Given the description of an element on the screen output the (x, y) to click on. 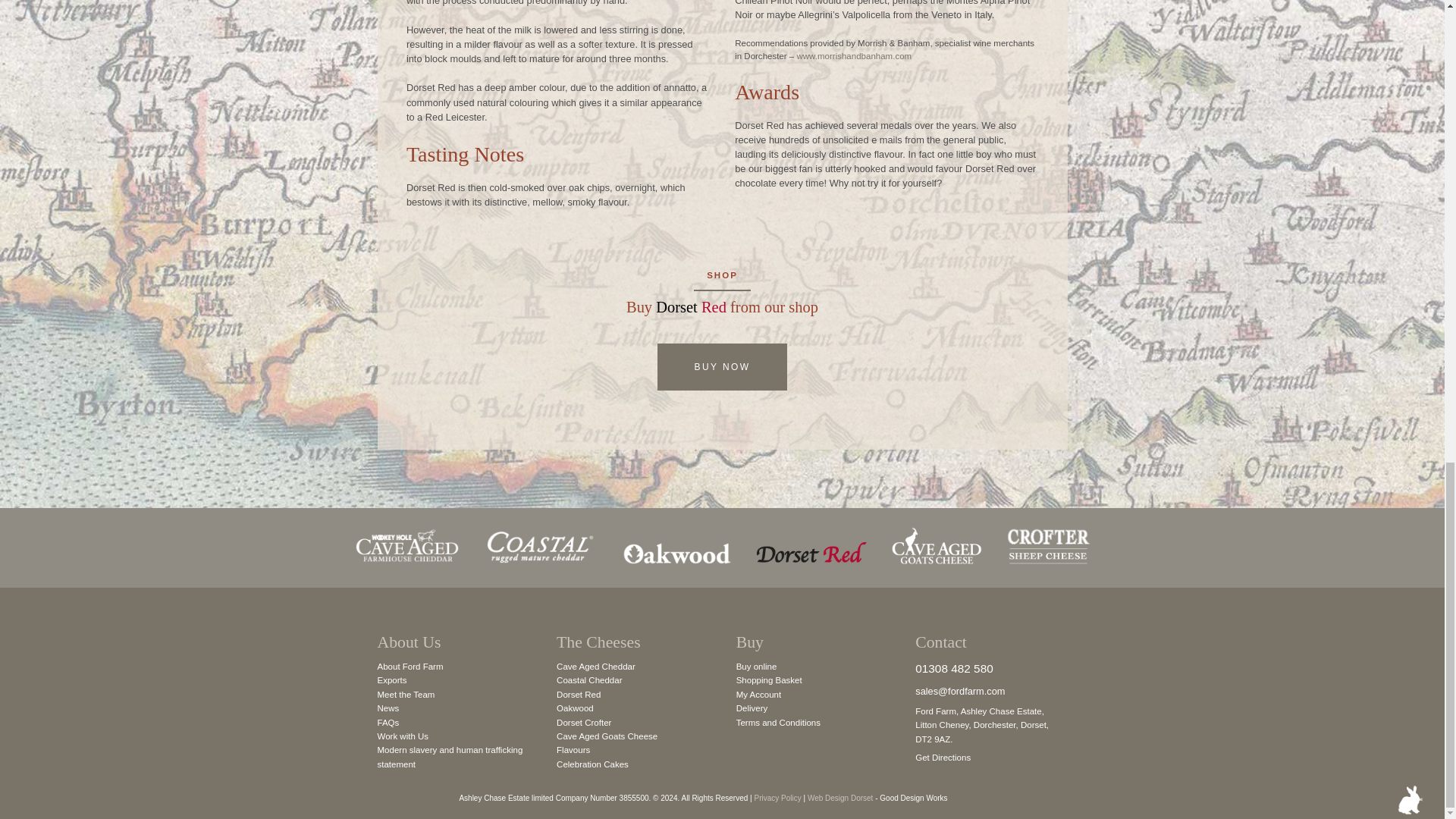
www.morrishandbanham.com (853, 55)
Exports (392, 679)
Meet the Team (406, 694)
BUY NOW (722, 366)
About Ford Farm (410, 665)
News (387, 707)
BUY NOW (722, 366)
FAQs (387, 722)
